Given the description of an element on the screen output the (x, y) to click on. 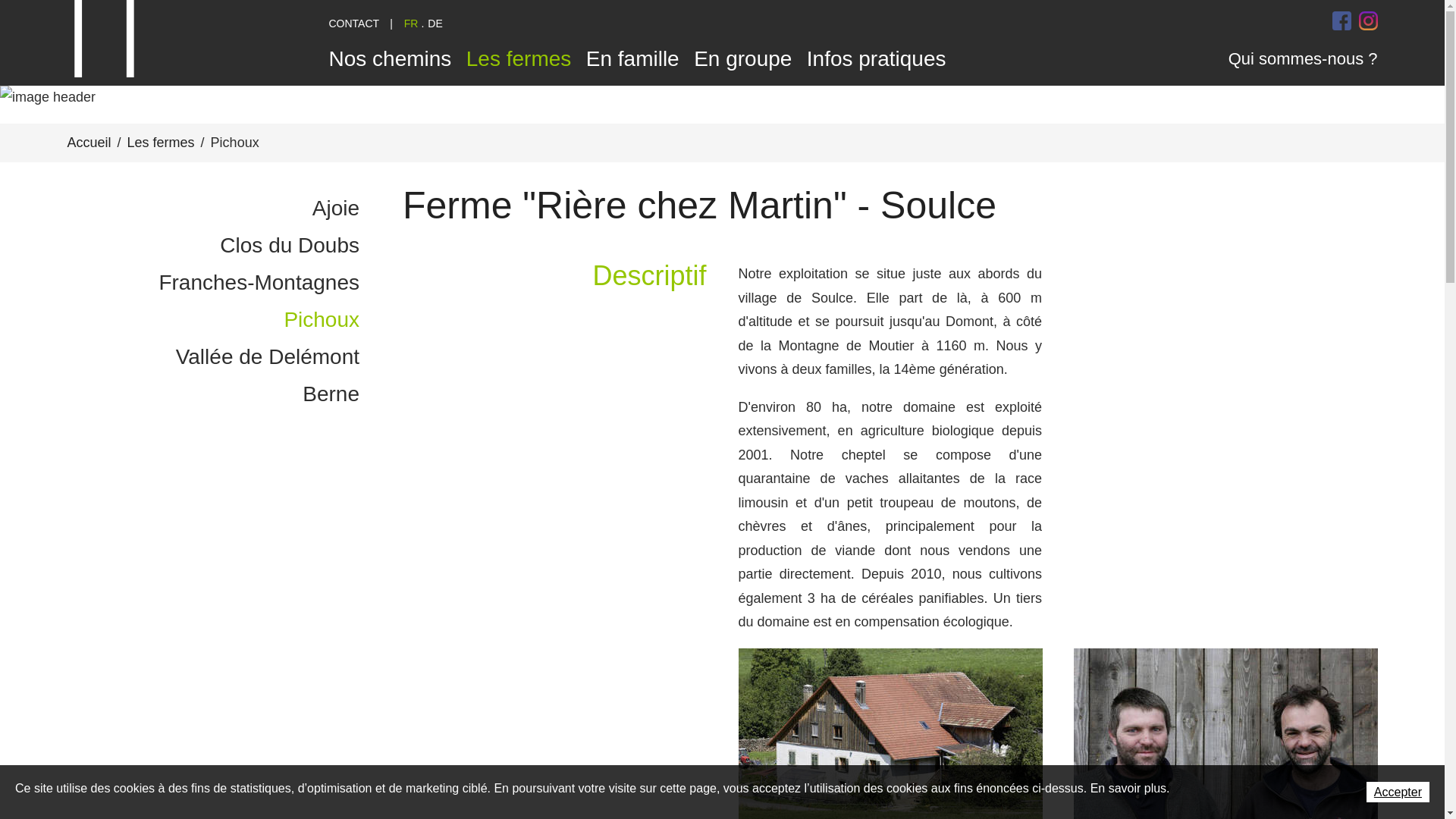
Berne Element type: text (212, 393)
Image descriptif 1 Element type: hover (1225, 748)
En famille Element type: text (632, 57)
FR Element type: text (411, 23)
Les fermes Element type: text (518, 57)
Nos chemins Element type: text (390, 57)
Qui sommes-nous ? Element type: text (1302, 57)
DE Element type: text (434, 23)
Infos pratiques Element type: text (876, 57)
Accepter Element type: text (1397, 791)
Les fermes Element type: text (160, 142)
En groupe Element type: text (742, 57)
Ajoie Element type: text (212, 207)
Franches-Montagnes Element type: text (212, 282)
Pichoux Element type: text (212, 319)
CONTACT Element type: text (354, 23)
Clos du Doubs Element type: text (212, 244)
Image descriptif 2 Element type: hover (890, 748)
Accueil Element type: text (88, 142)
